Given the description of an element on the screen output the (x, y) to click on. 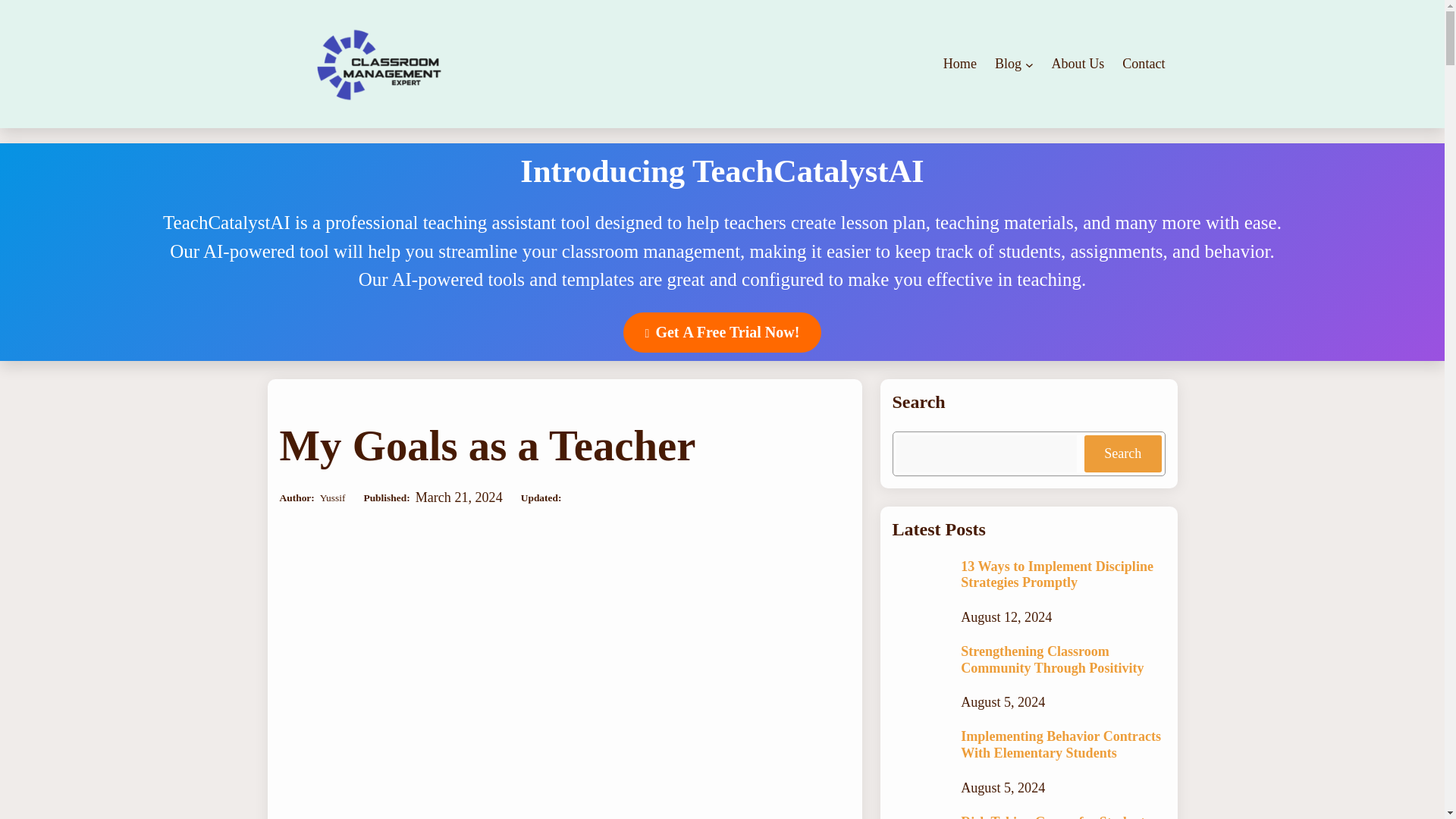
About Us (1077, 64)
Get A Free Trial Now! (722, 332)
Home (959, 64)
Contact (1143, 64)
Blog (1008, 64)
